Given the description of an element on the screen output the (x, y) to click on. 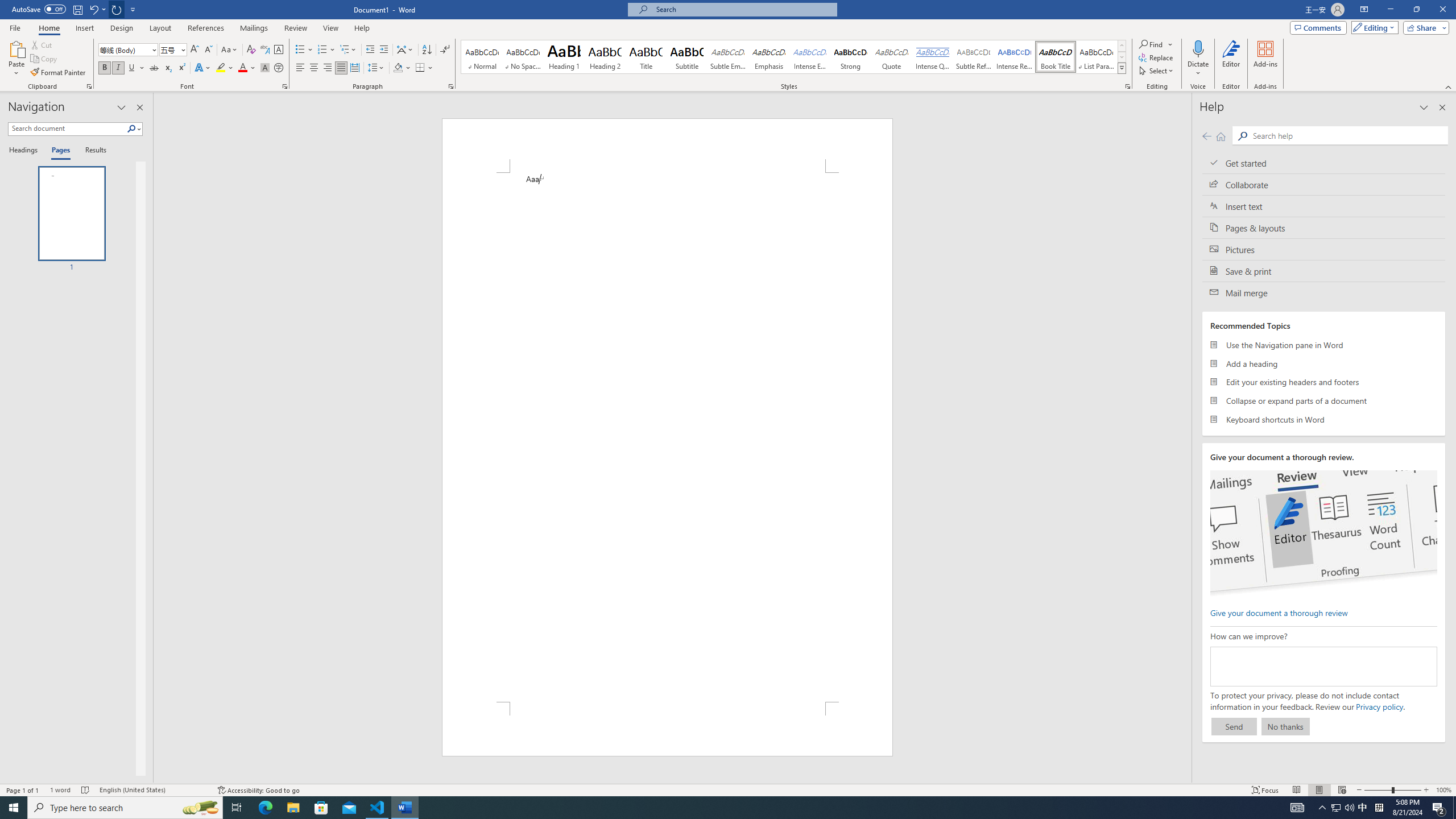
System (6, 6)
Strong (849, 56)
Home (1220, 136)
Font Size (172, 49)
Find (1151, 44)
AutoSave (38, 9)
Borders (419, 67)
Change Case (229, 49)
Task Pane Options (121, 107)
Collaborate (1323, 184)
Phonetic Guide... (264, 49)
Font Size (169, 49)
Editor (1231, 58)
Text Effects and Typography (202, 67)
Character Shading (264, 67)
